Given the description of an element on the screen output the (x, y) to click on. 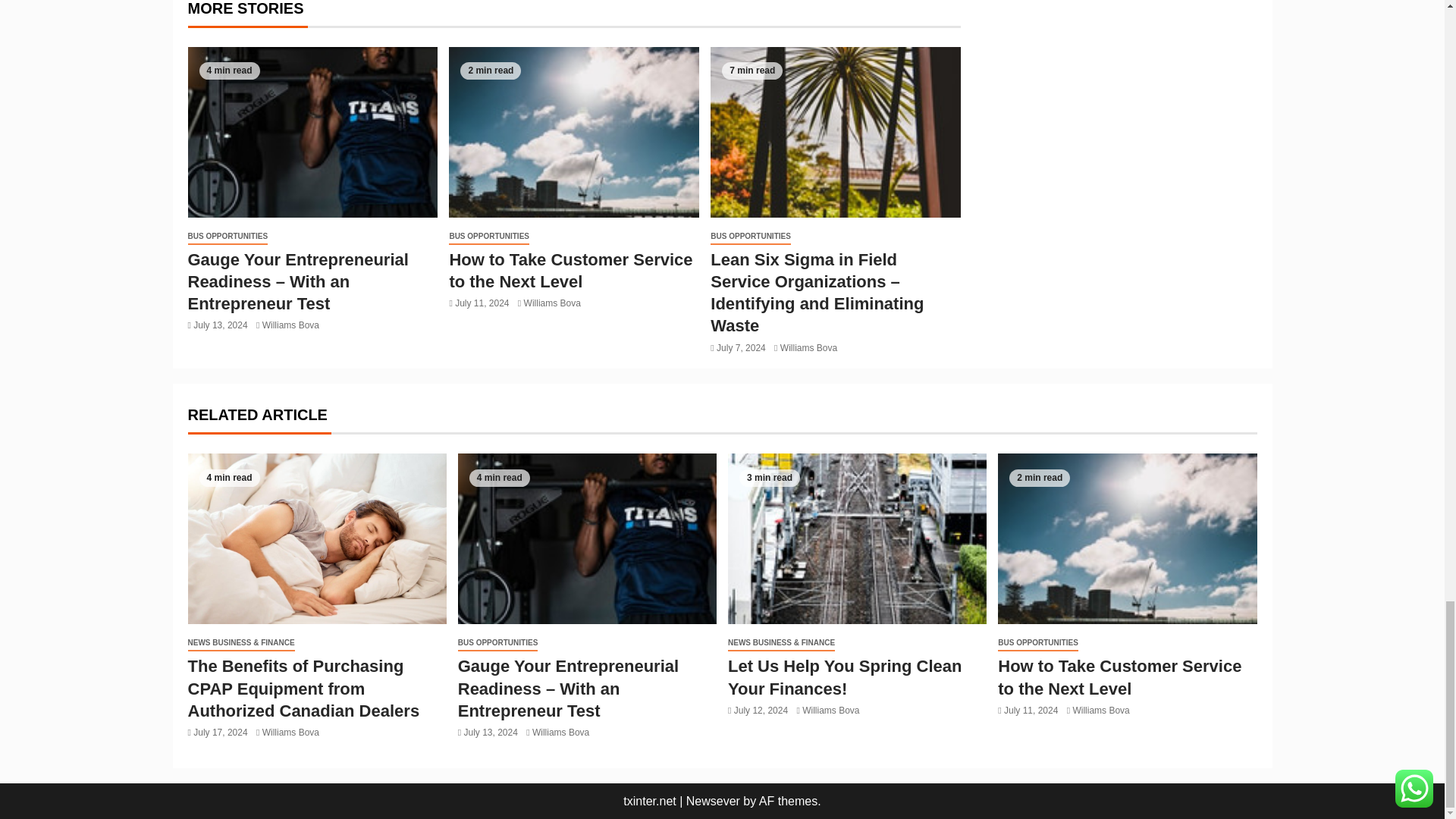
How to Take Customer Service to the Next Level (573, 131)
